Given the description of an element on the screen output the (x, y) to click on. 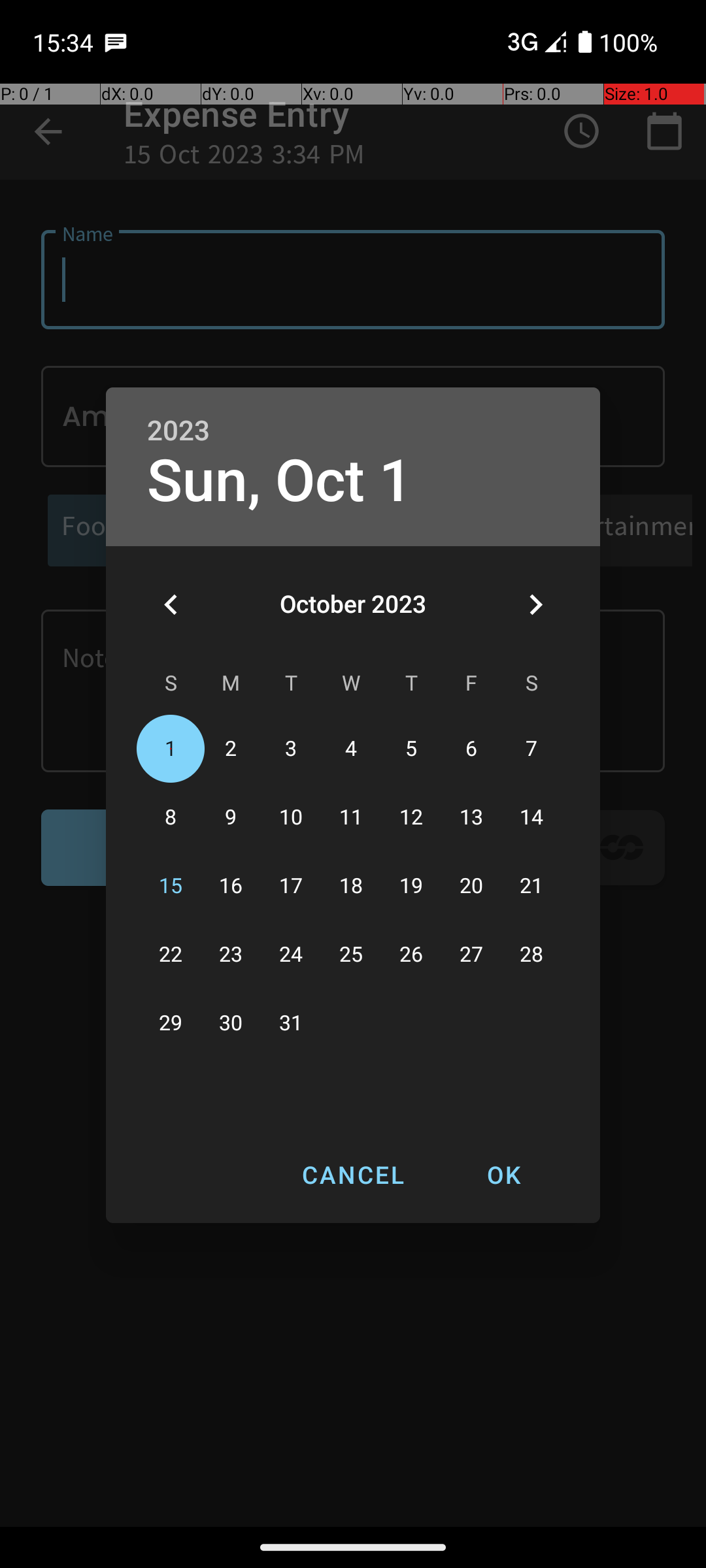
Sun, Oct 1 Element type: android.widget.TextView (279, 480)
